Given the description of an element on the screen output the (x, y) to click on. 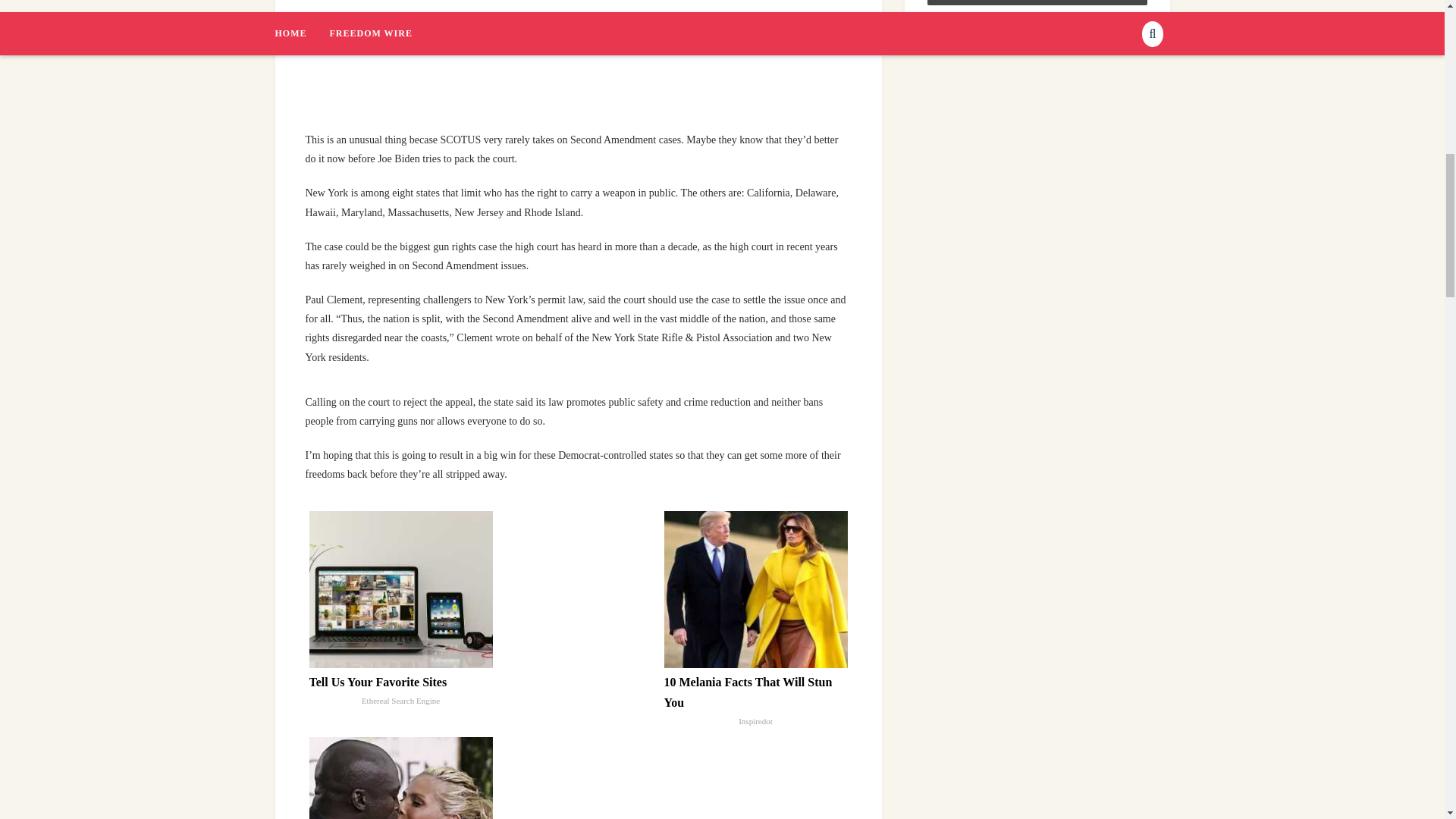
Advertisement (600, 59)
